Given the description of an element on the screen output the (x, y) to click on. 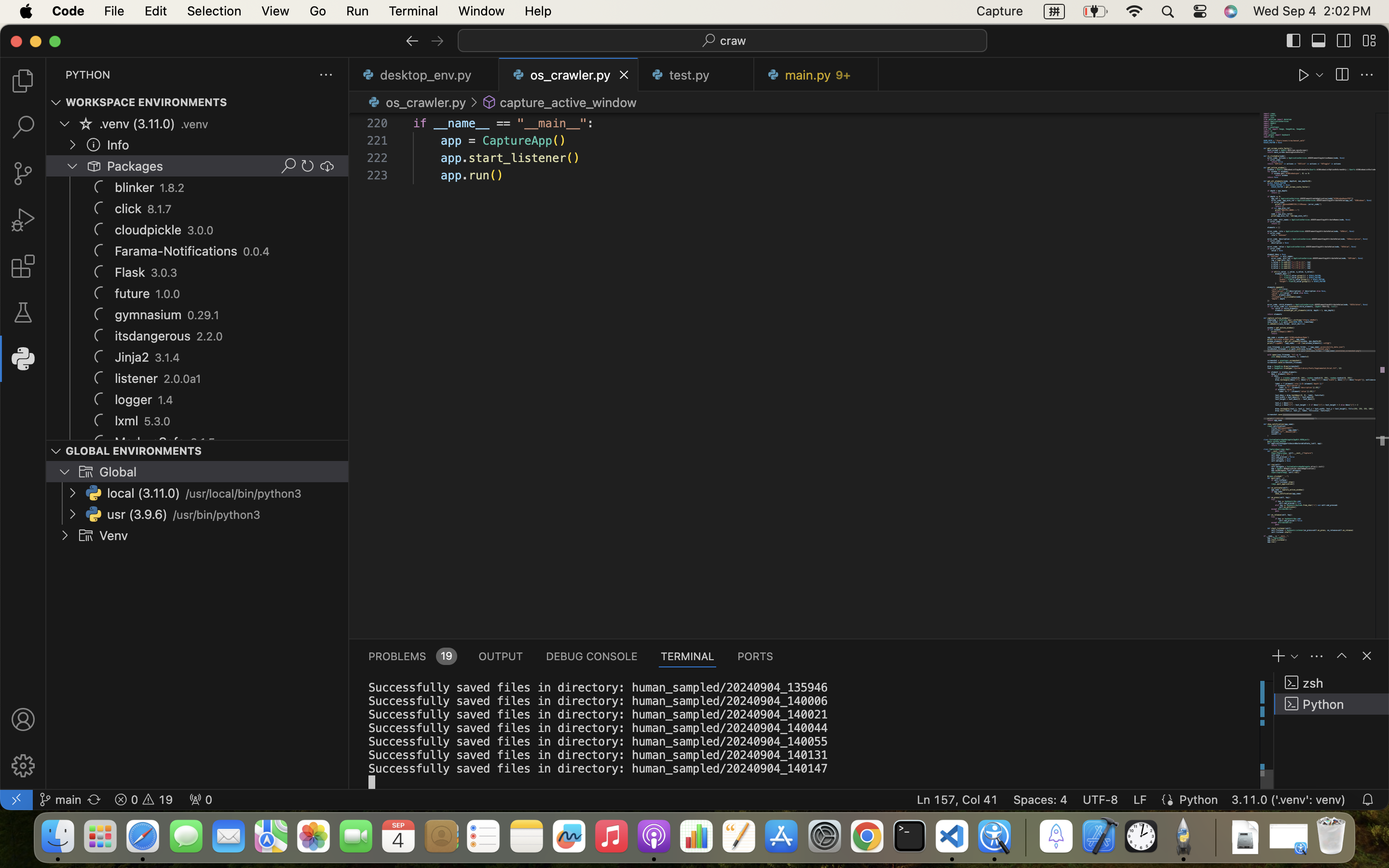
.venv Element type: AXStaticText (194, 124)
listener Element type: AXStaticText (136, 378)
local (3.11.0) Element type: AXStaticText (143, 493)
zsh  Element type: AXGroup (1331, 682)
 Element type: AXGroup (23, 127)
